Given the description of an element on the screen output the (x, y) to click on. 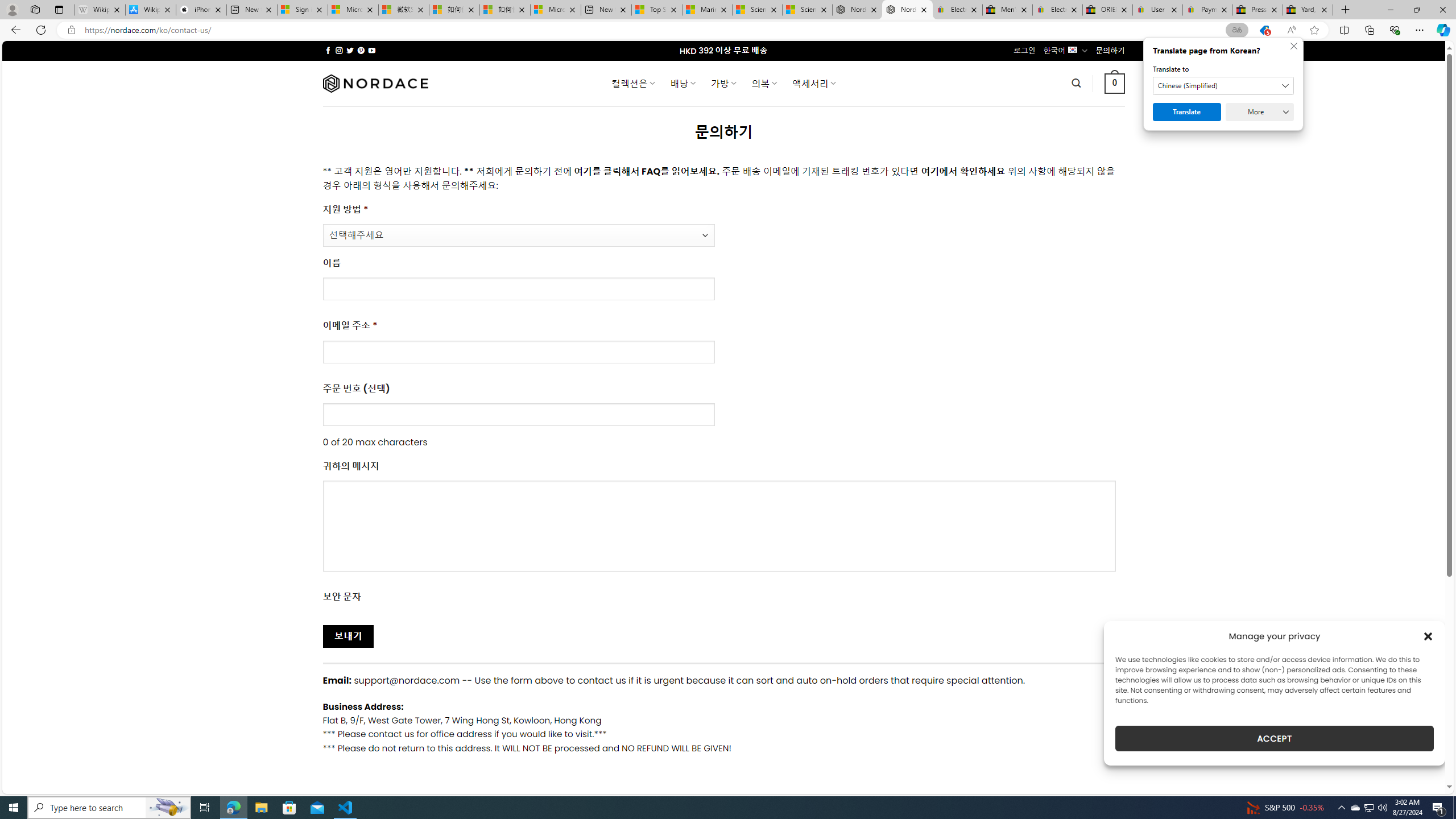
  0   (1115, 83)
Follow on Instagram (338, 50)
Class: cmplz-close (1428, 636)
